Given the description of an element on the screen output the (x, y) to click on. 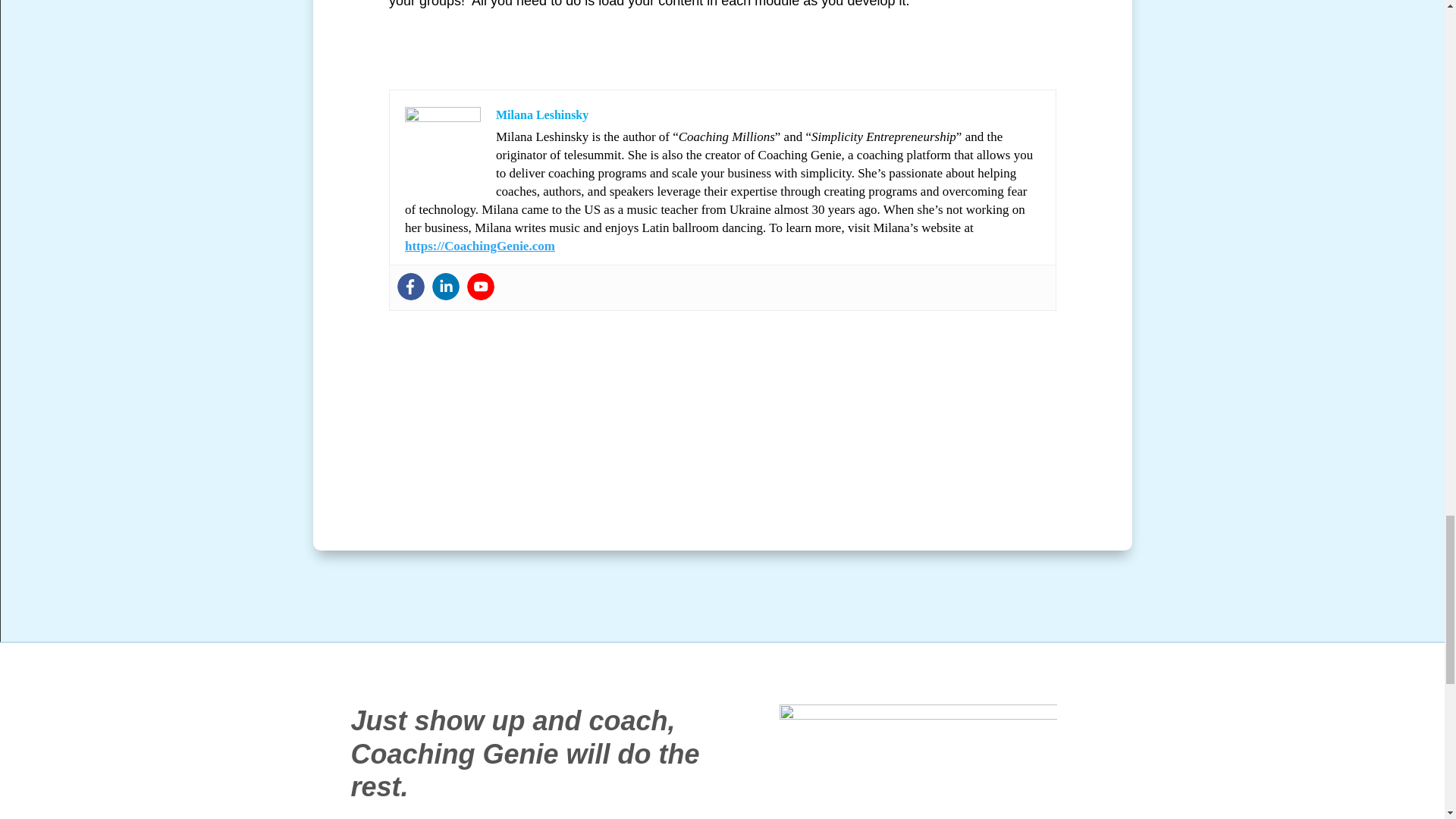
Linkedin (446, 286)
Milana Leshinsky (542, 114)
Youtube (481, 286)
clientview (917, 761)
Facebook (411, 286)
